Given the description of an element on the screen output the (x, y) to click on. 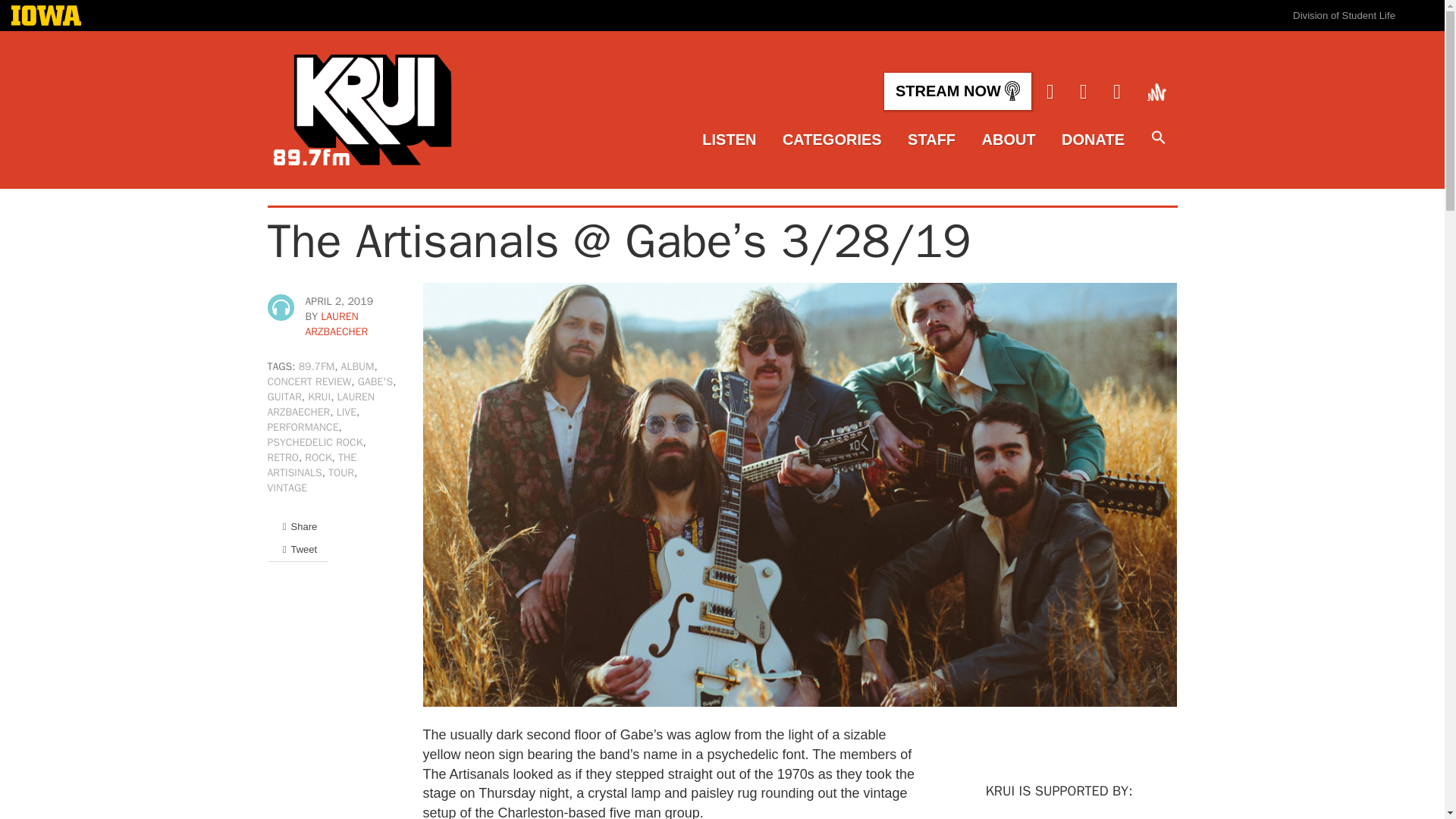
LISTEN (728, 139)
STREAM NOW (956, 90)
Share on Twitter (296, 549)
Share on Facebook (296, 525)
Division of Student Life (1343, 15)
ABOUT (1008, 139)
CATEGORIES (832, 139)
The University of Iowa (46, 16)
STAFF (931, 139)
